Given the description of an element on the screen output the (x, y) to click on. 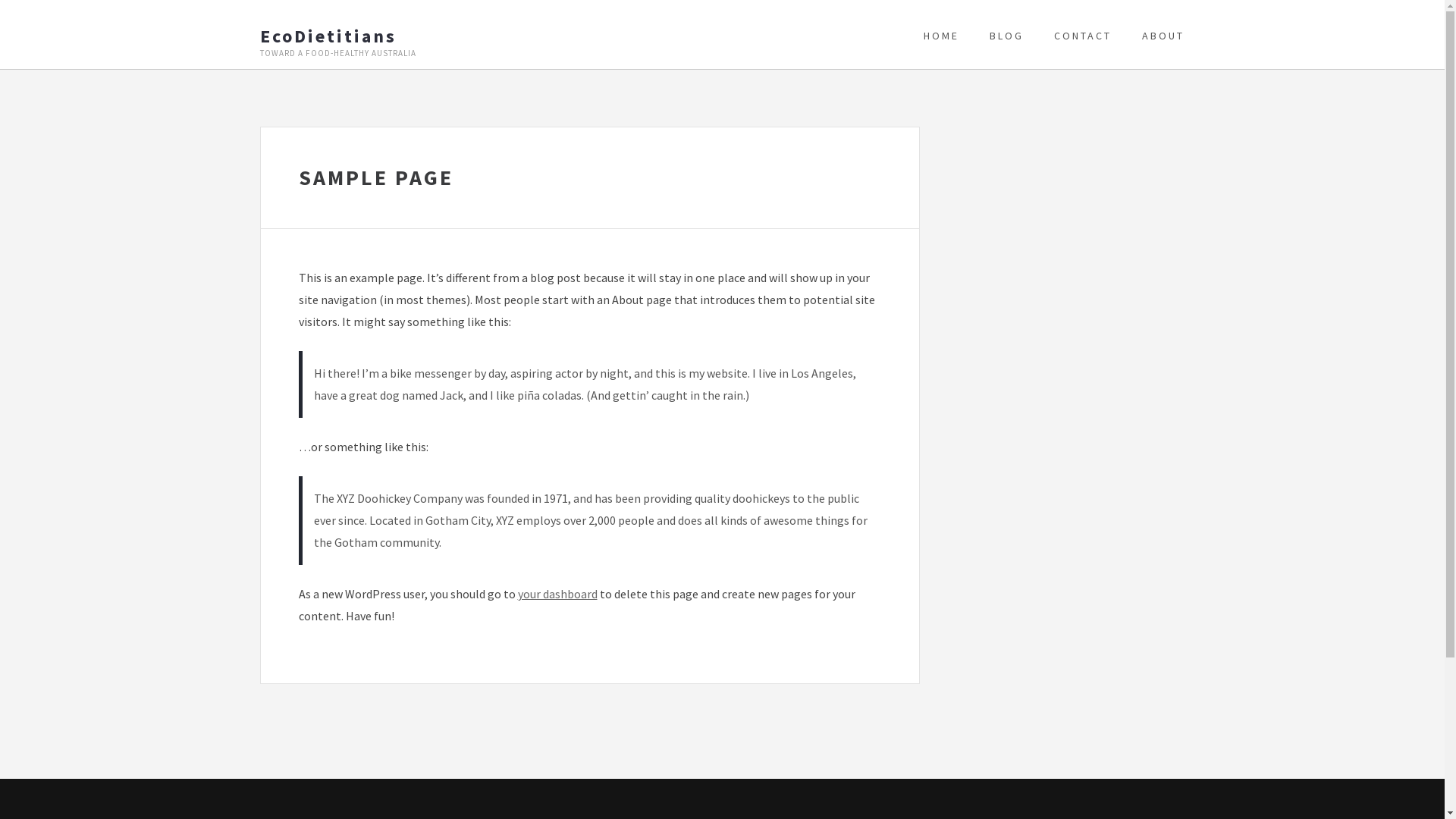
CONTACT Element type: text (1082, 35)
your dashboard Element type: text (556, 593)
EcoDietitians Element type: text (405, 36)
HOME Element type: text (941, 35)
BLOG Element type: text (1006, 35)
ABOUT Element type: text (1155, 35)
